Given the description of an element on the screen output the (x, y) to click on. 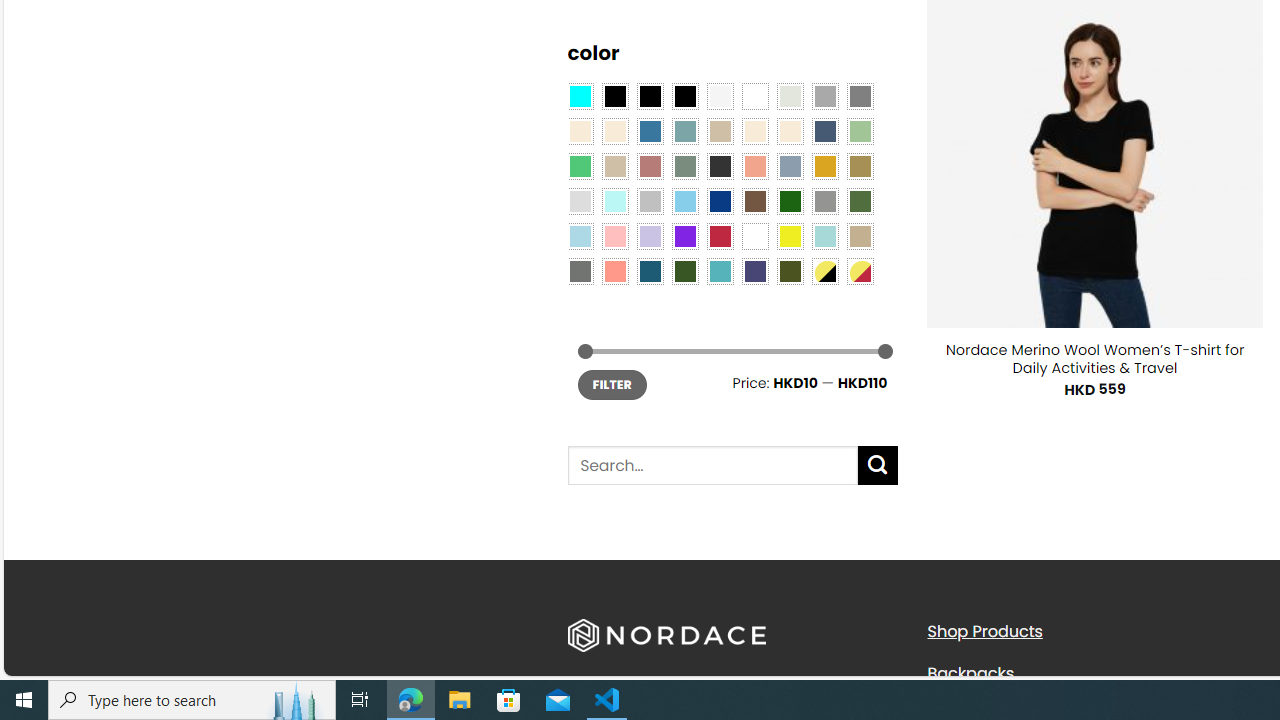
Light Blue (579, 236)
Black-Brown (684, 95)
Yellow (789, 236)
Blue (650, 131)
Purple (684, 236)
Green (859, 200)
Aqua (824, 236)
FILTER (612, 384)
Purple Navy (755, 270)
Caramel (755, 131)
Coral (755, 165)
Capri Blue (650, 270)
Backpacks (970, 672)
Pearly White (719, 95)
Hale Navy (824, 131)
